Given the description of an element on the screen output the (x, y) to click on. 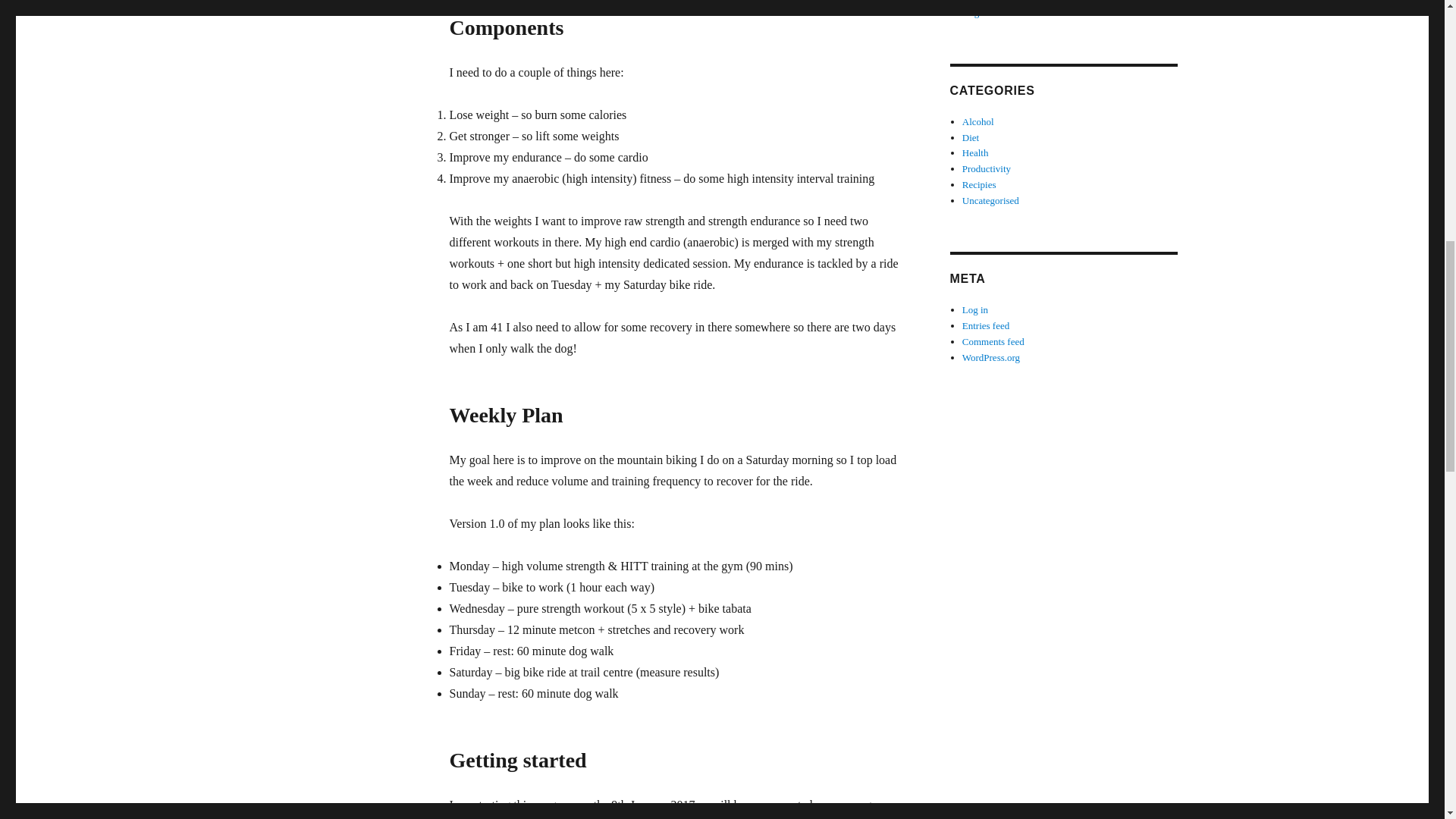
August 2015 (987, 12)
Alcohol (978, 121)
Log in (975, 309)
Productivity (986, 168)
Health (975, 152)
WordPress.org (991, 357)
September 2015 (994, 1)
Entries feed (985, 325)
Recipies (978, 184)
Comments feed (993, 341)
Diet (970, 137)
Uncategorised (990, 200)
